Given the description of an element on the screen output the (x, y) to click on. 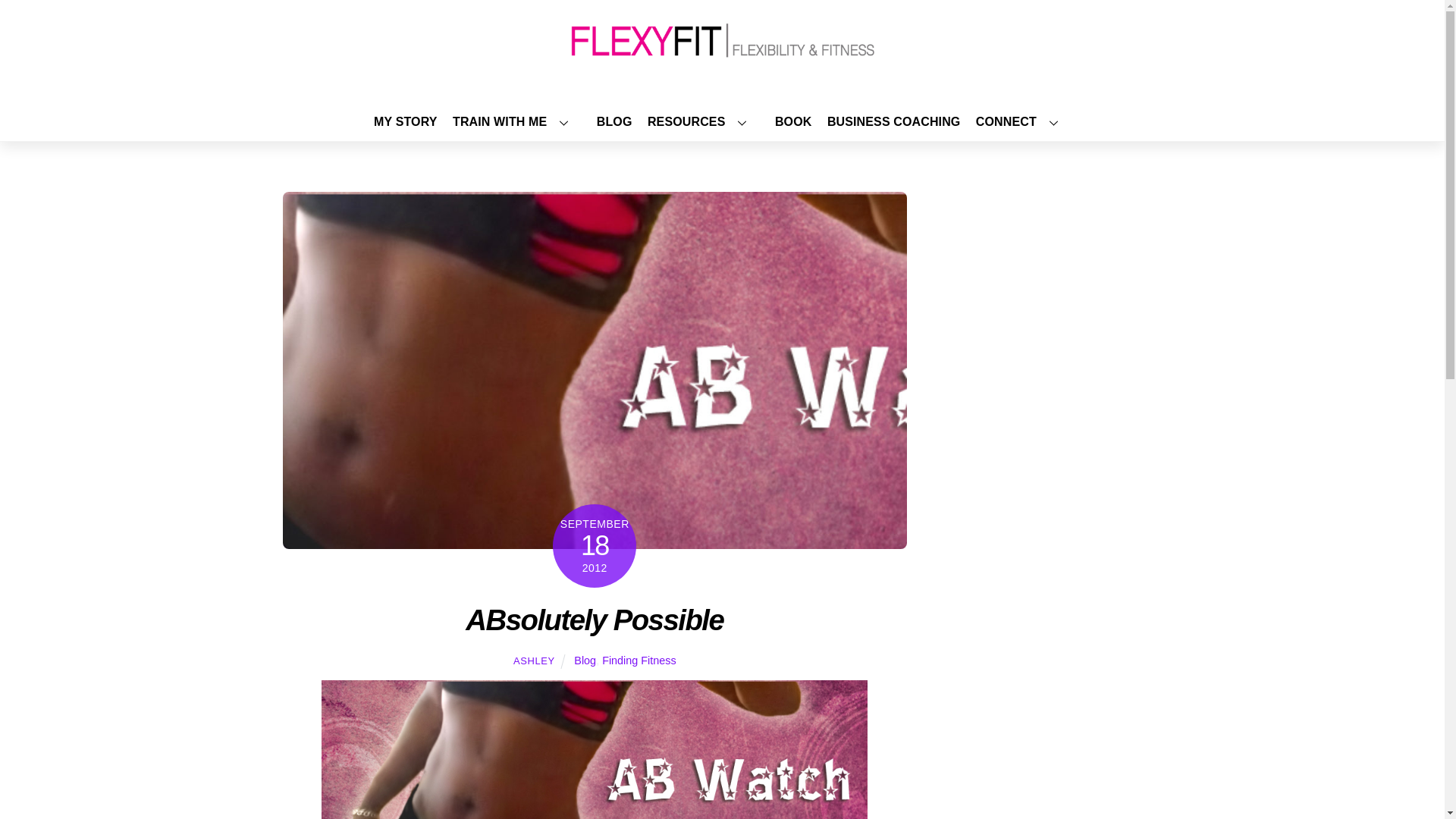
MY STORY (405, 121)
abwatch2 (594, 749)
ASHLEY (533, 660)
RESOURCES (703, 121)
ABsolutely Possible (594, 619)
CONNECT (1022, 121)
BUSINESS COACHING (893, 121)
FlexyFit (721, 55)
TRAIN WITH ME (516, 121)
